Given the description of an element on the screen output the (x, y) to click on. 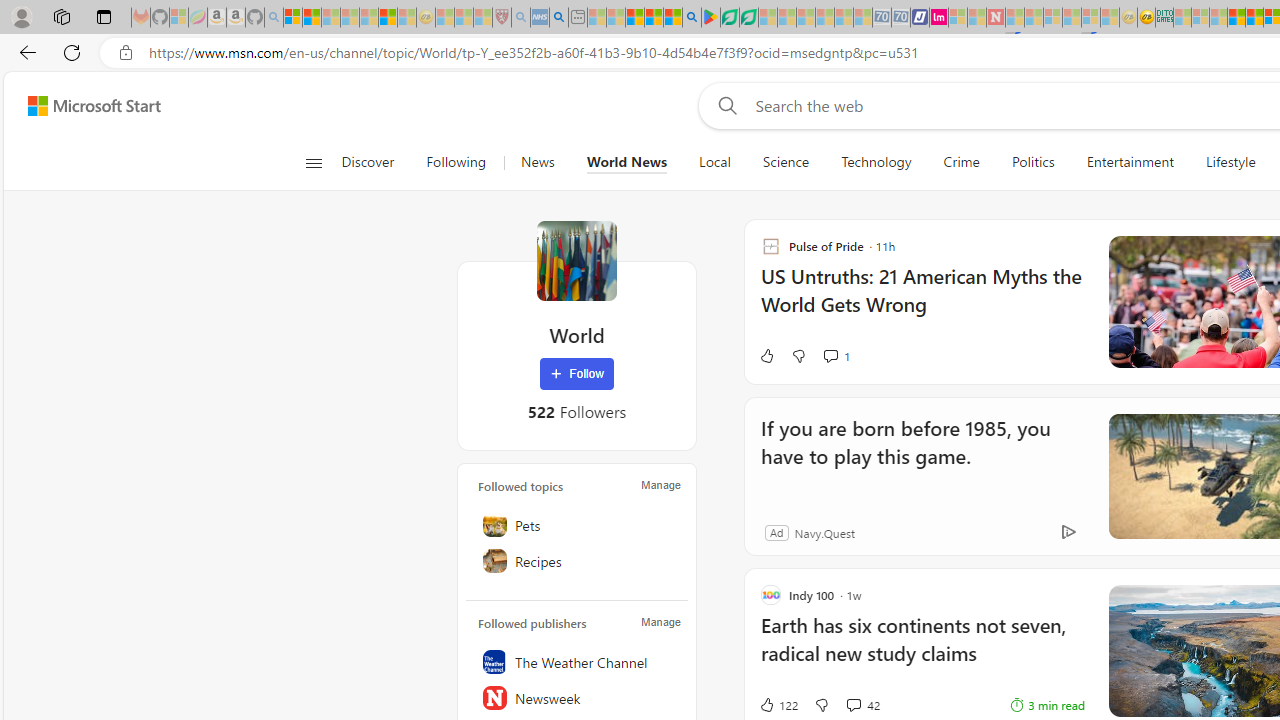
utah sues federal government - Search (559, 17)
View comments 1 Comment (829, 355)
